Given the description of an element on the screen output the (x, y) to click on. 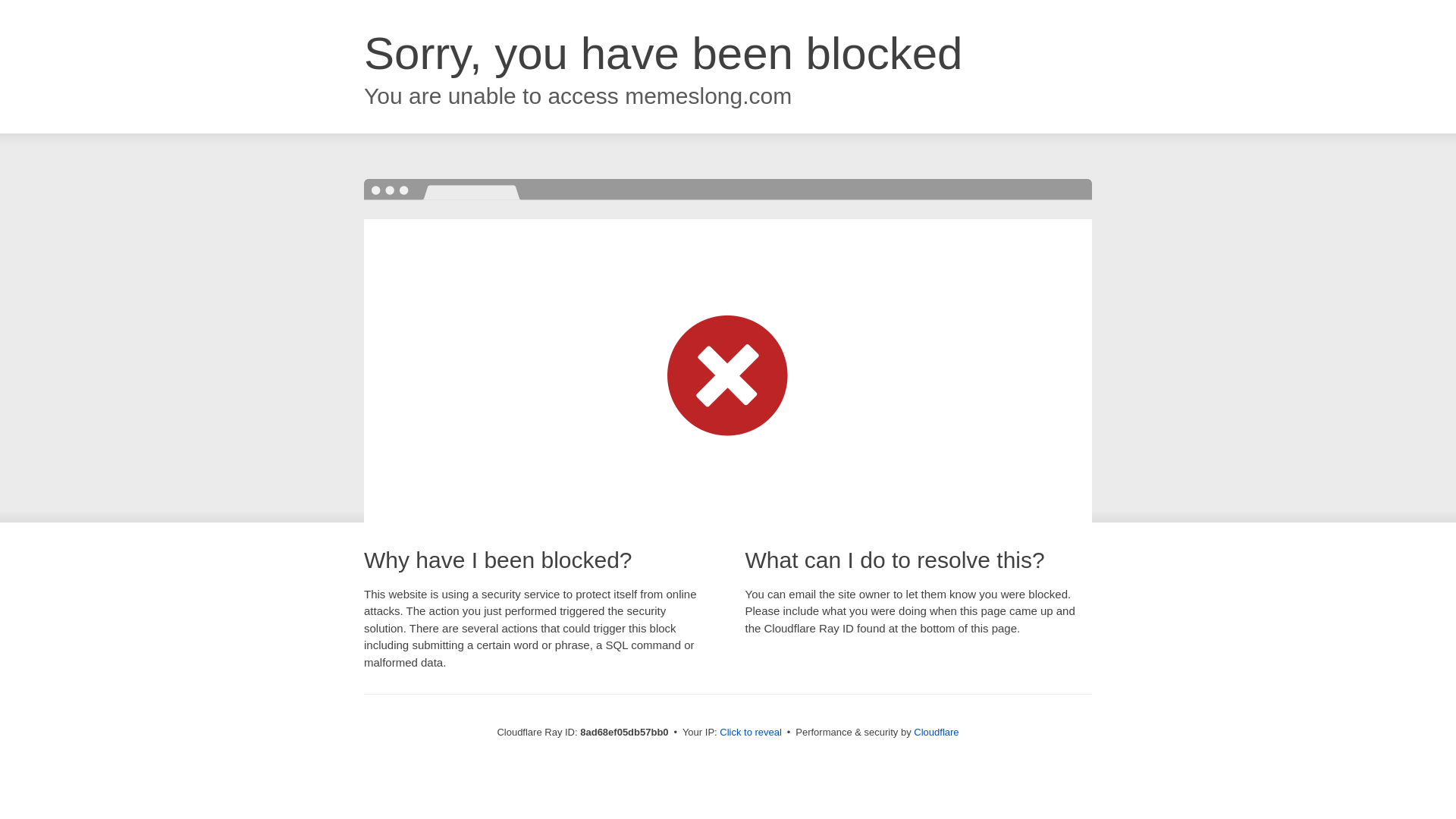
Click to reveal (750, 732)
Cloudflare (936, 731)
